Given the description of an element on the screen output the (x, y) to click on. 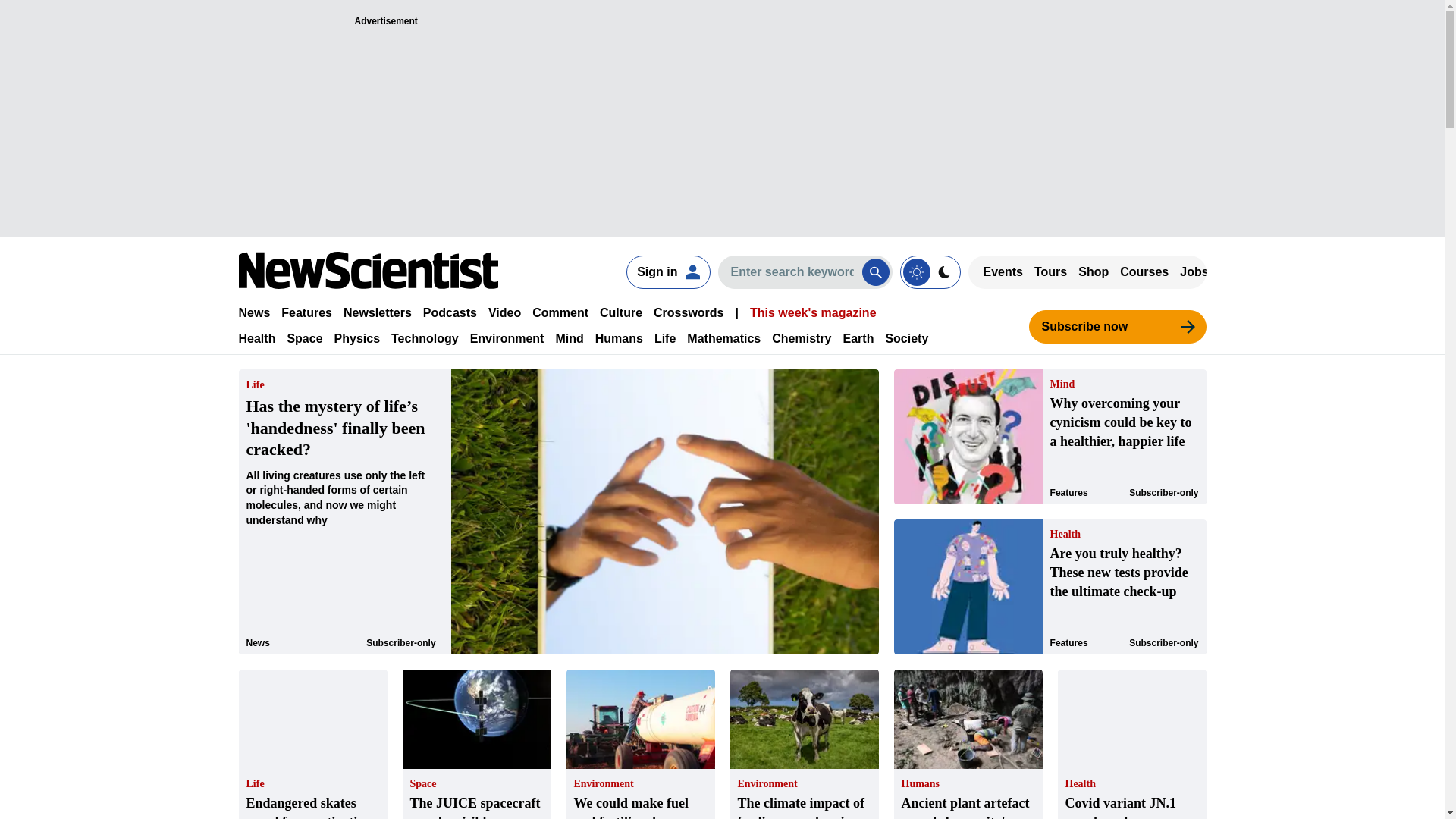
Tours (1050, 272)
on (929, 272)
News (253, 313)
Video (504, 313)
Jobs (1193, 272)
Courses (1144, 272)
Earth (859, 338)
Environment (507, 338)
Humans (619, 338)
Sign In page link (668, 272)
